Given the description of an element on the screen output the (x, y) to click on. 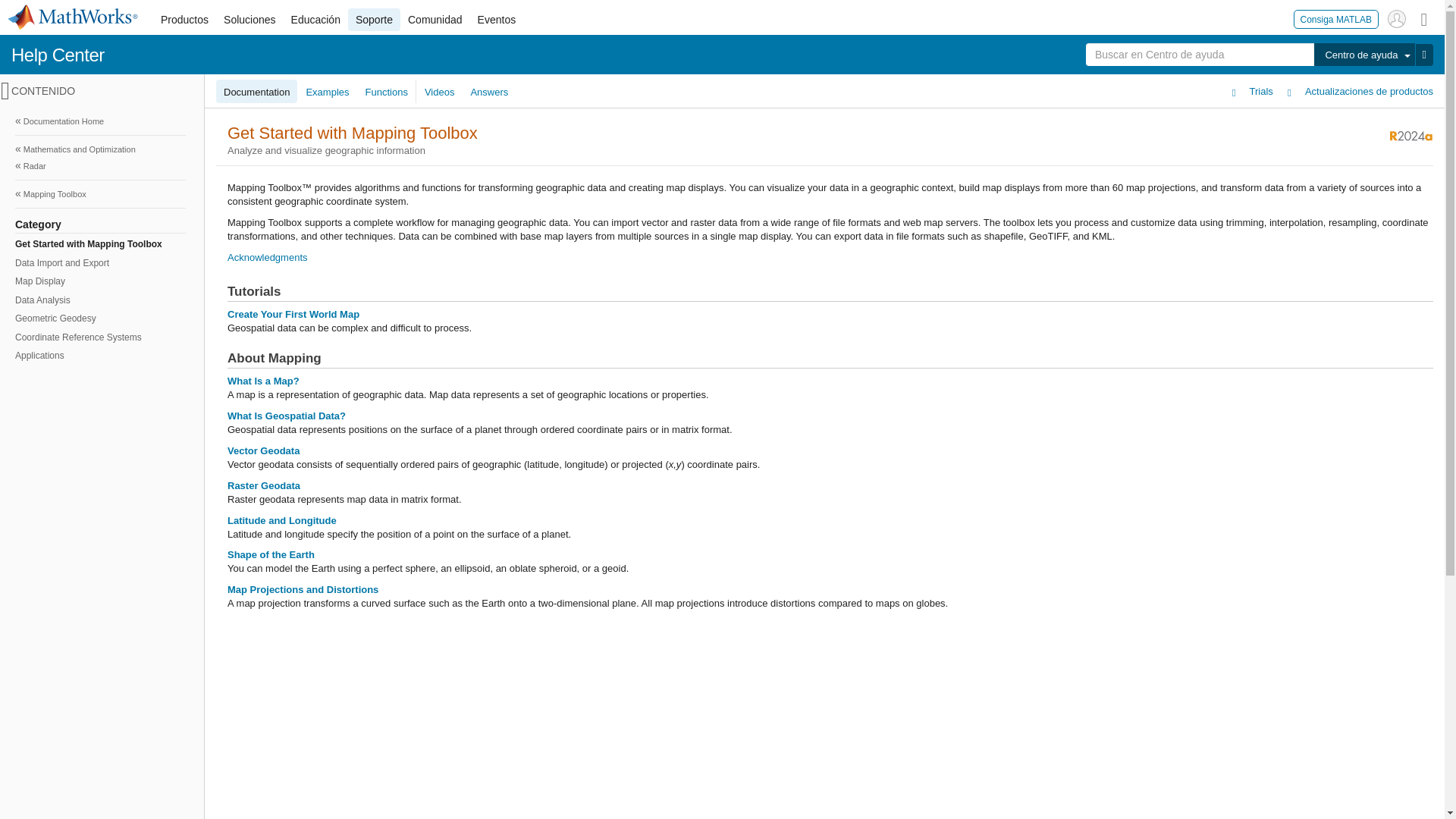
Soluciones (249, 19)
Matrix Menu (1423, 18)
Soporte (373, 19)
Productos (183, 19)
Comunidad (435, 19)
Consiga MATLAB (1336, 18)
Eventos (497, 19)
